Given the description of an element on the screen output the (x, y) to click on. 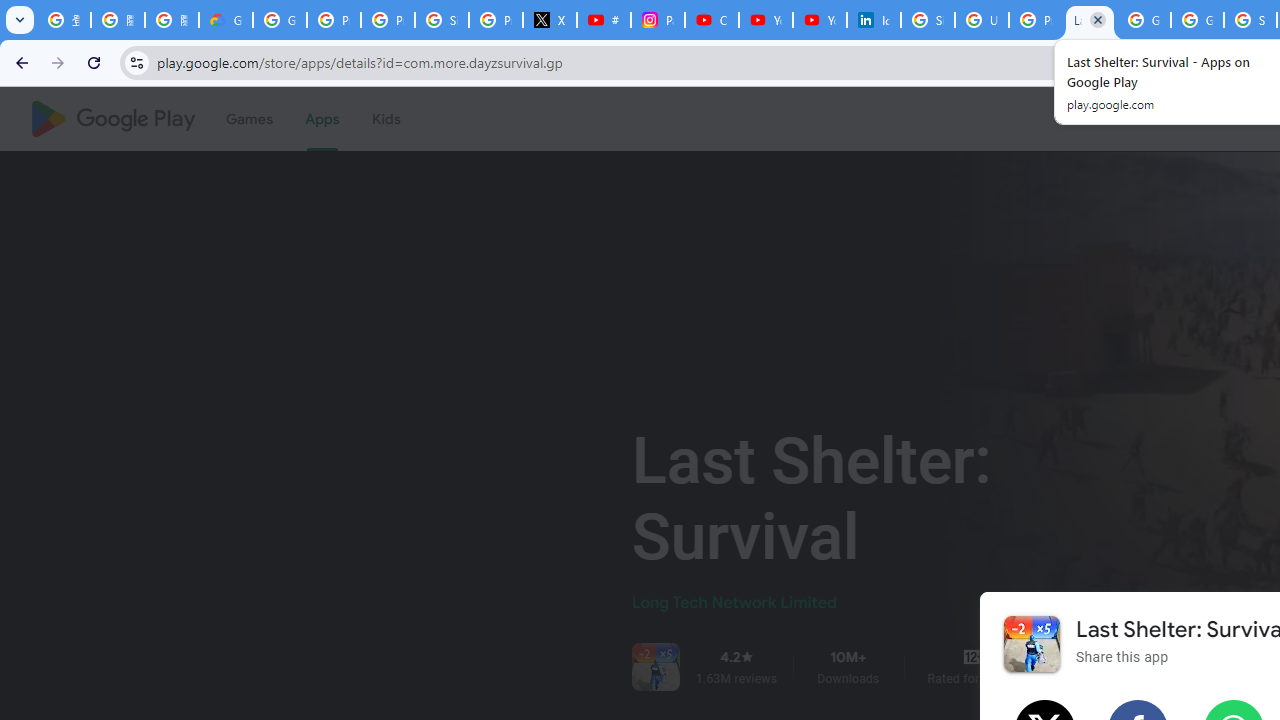
Last Shelter: Survival - Apps on Google Play (1089, 20)
Google Workspace - Specific Terms (1197, 20)
Google Cloud Privacy Notice (225, 20)
YouTube Culture & Trends - YouTube Top 10, 2021 (819, 20)
